Given the description of an element on the screen output the (x, y) to click on. 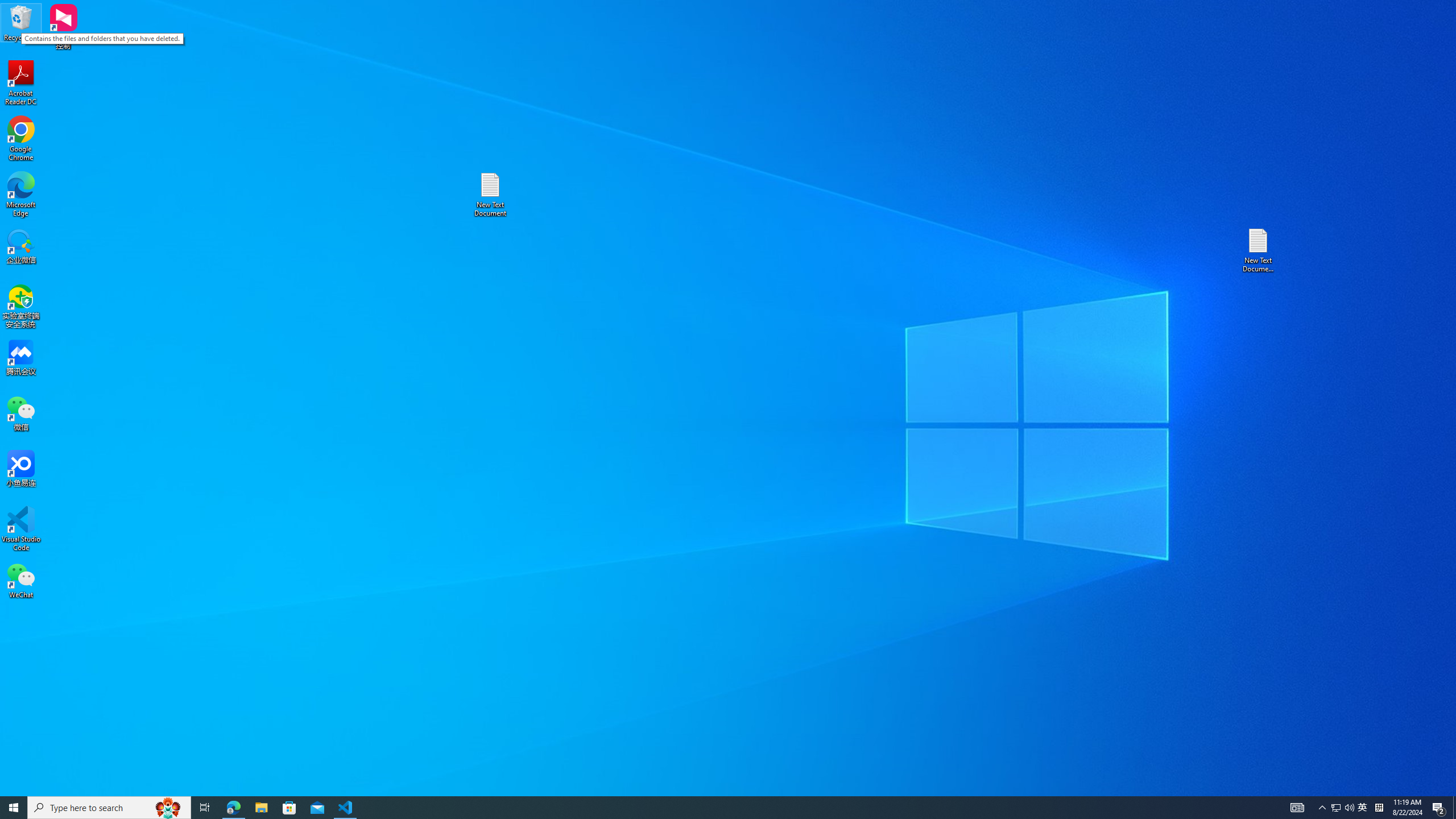
Recycle Bin (1335, 807)
Google Chrome (21, 22)
File Explorer (21, 138)
Microsoft Edge - 1 running window (261, 807)
Running applications (233, 807)
New Text Document (2) (707, 807)
User Promoted Notification Area (1258, 250)
Tray Input Indicator - Chinese (Simplified, China) (1342, 807)
AutomationID: 4105 (1378, 807)
Acrobat Reader DC (1297, 807)
Show desktop (21, 82)
